Given the description of an element on the screen output the (x, y) to click on. 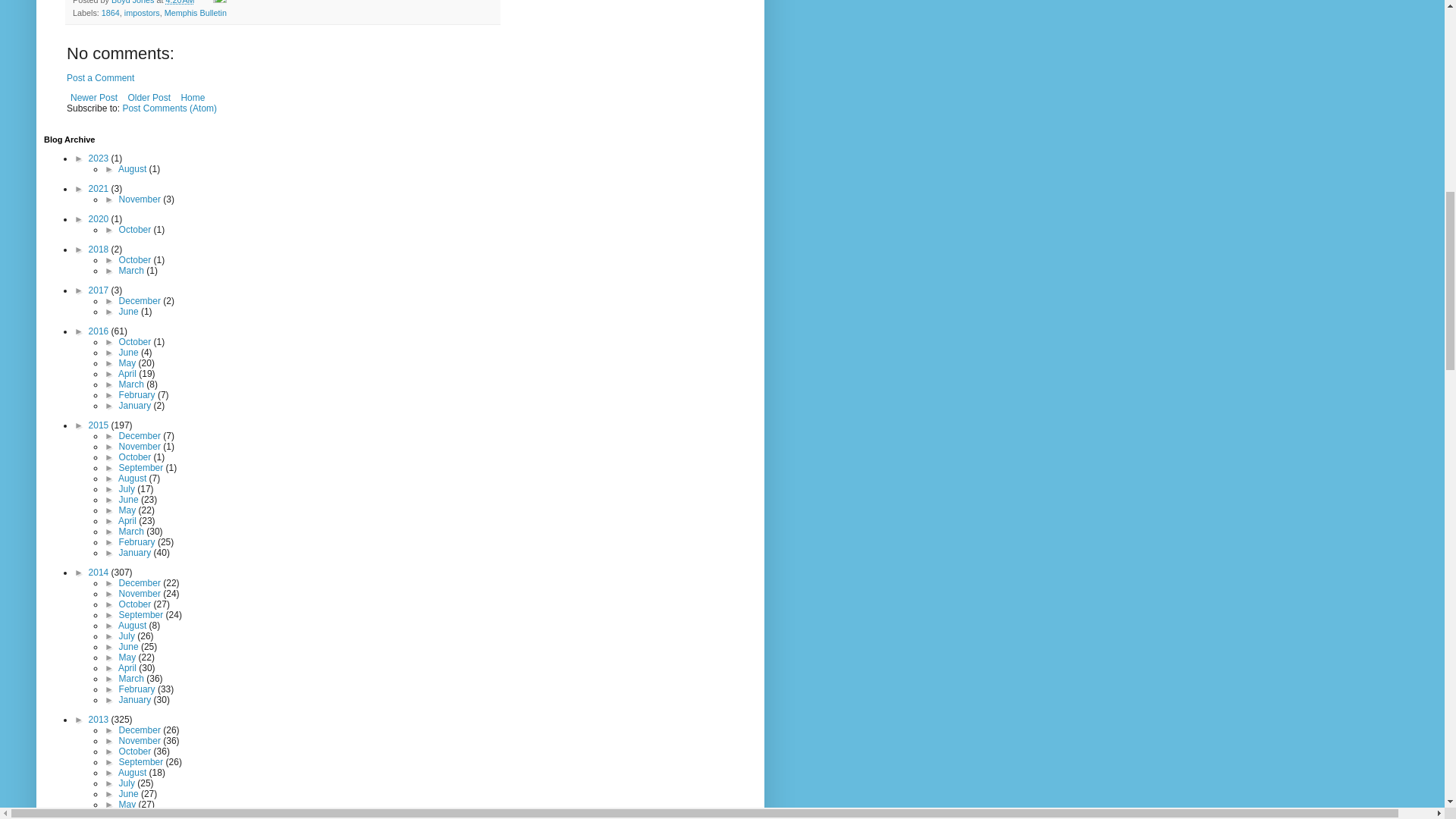
Email Post (204, 2)
December (141, 300)
June (130, 311)
Newer Post (93, 97)
Older Post (148, 97)
Boyd Jones (133, 2)
March (133, 270)
2021 (100, 188)
2020 (100, 218)
November (141, 199)
Edit Post (219, 2)
August (133, 168)
permanent link (179, 2)
2017 (100, 290)
October (136, 259)
